Given the description of an element on the screen output the (x, y) to click on. 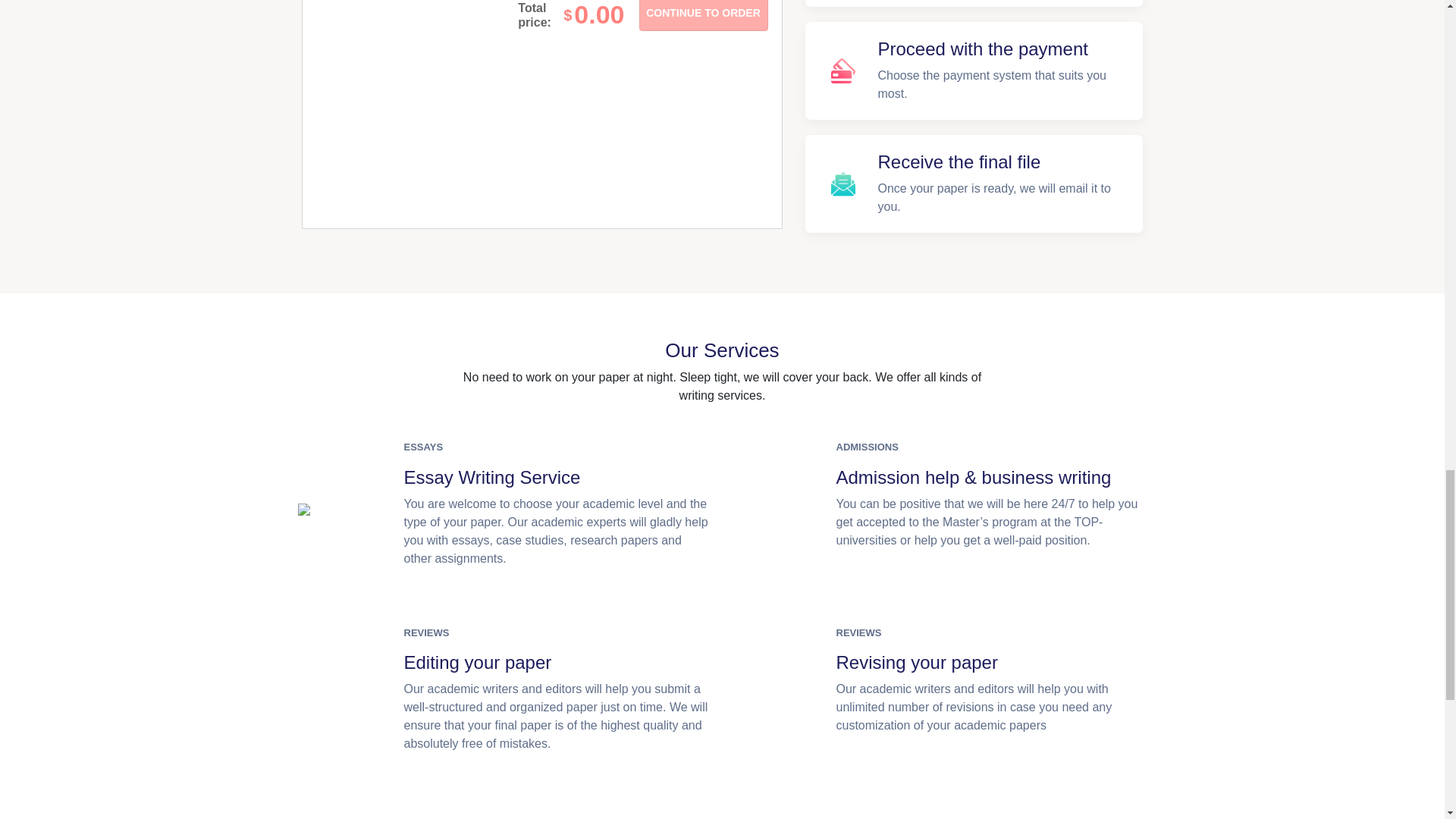
Continue to order (703, 15)
Continue to Order (703, 15)
Continue to order (703, 15)
